Given the description of an element on the screen output the (x, y) to click on. 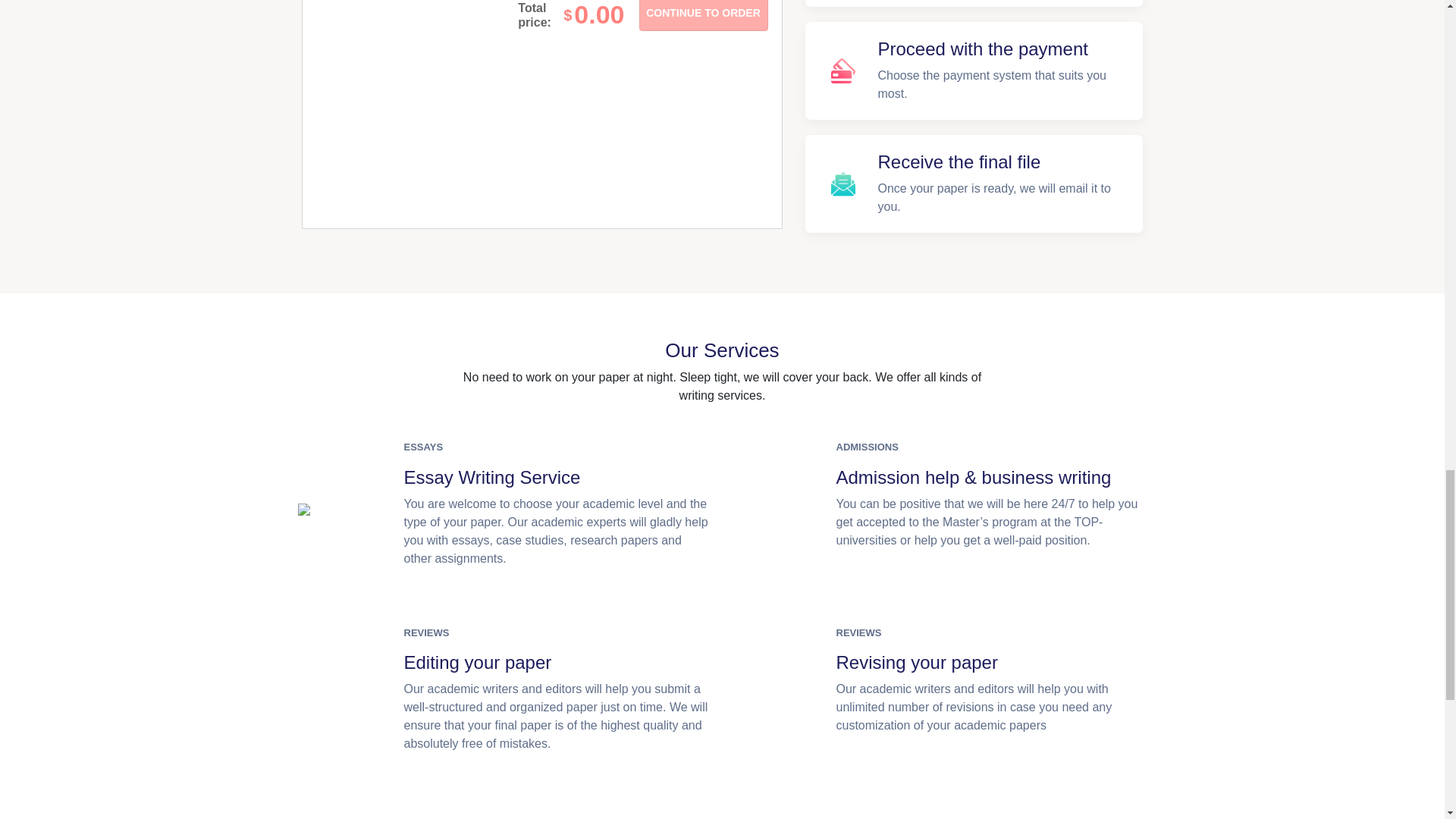
Continue to order (703, 15)
Continue to Order (703, 15)
Continue to order (703, 15)
